Given the description of an element on the screen output the (x, y) to click on. 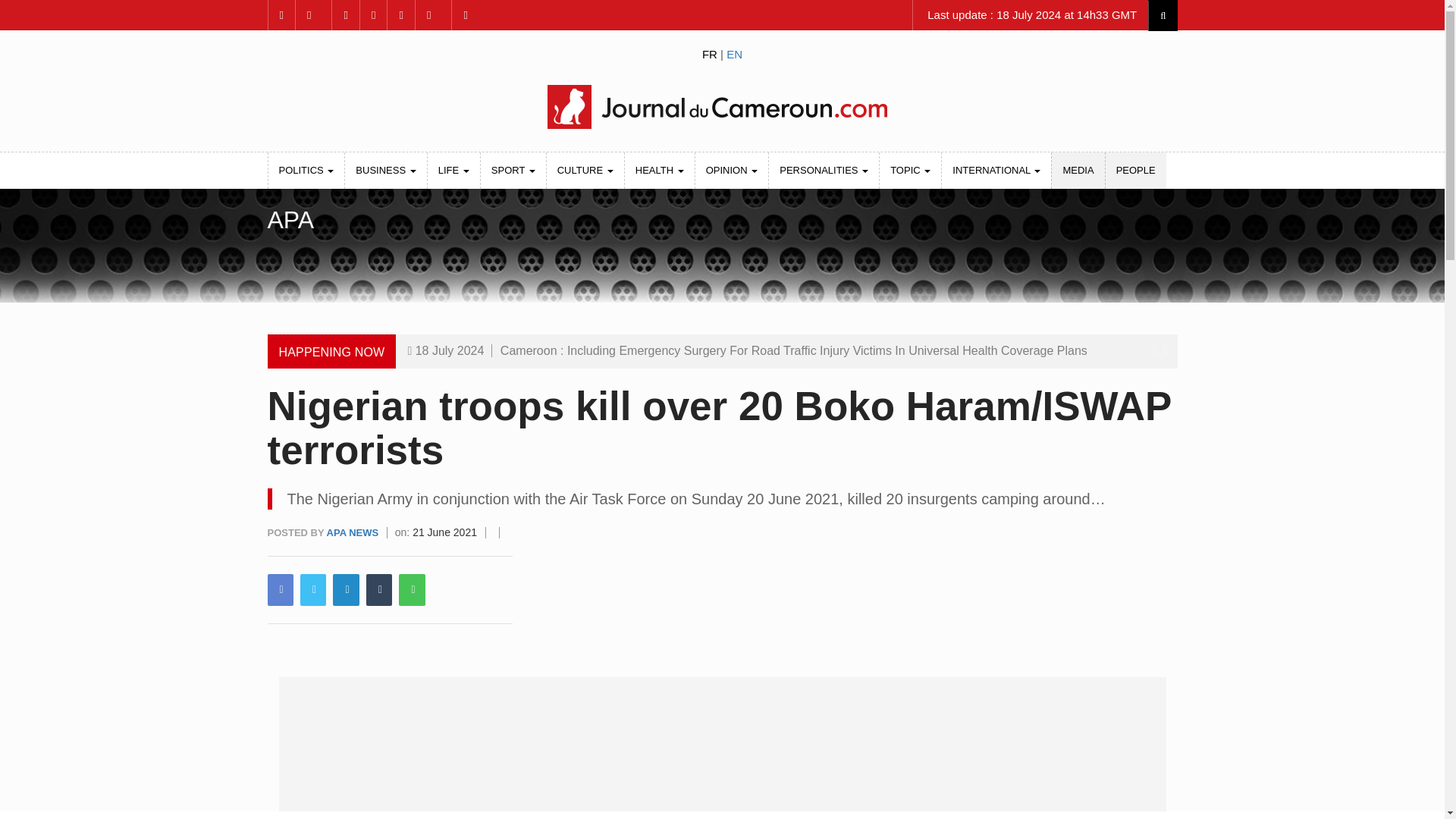
JDC (721, 106)
FR (709, 53)
POLITICS (306, 170)
Last update : 18 July 2024 at 14h33 GMT (1030, 15)
BUSINESS (385, 170)
EN (734, 53)
